Given the description of an element on the screen output the (x, y) to click on. 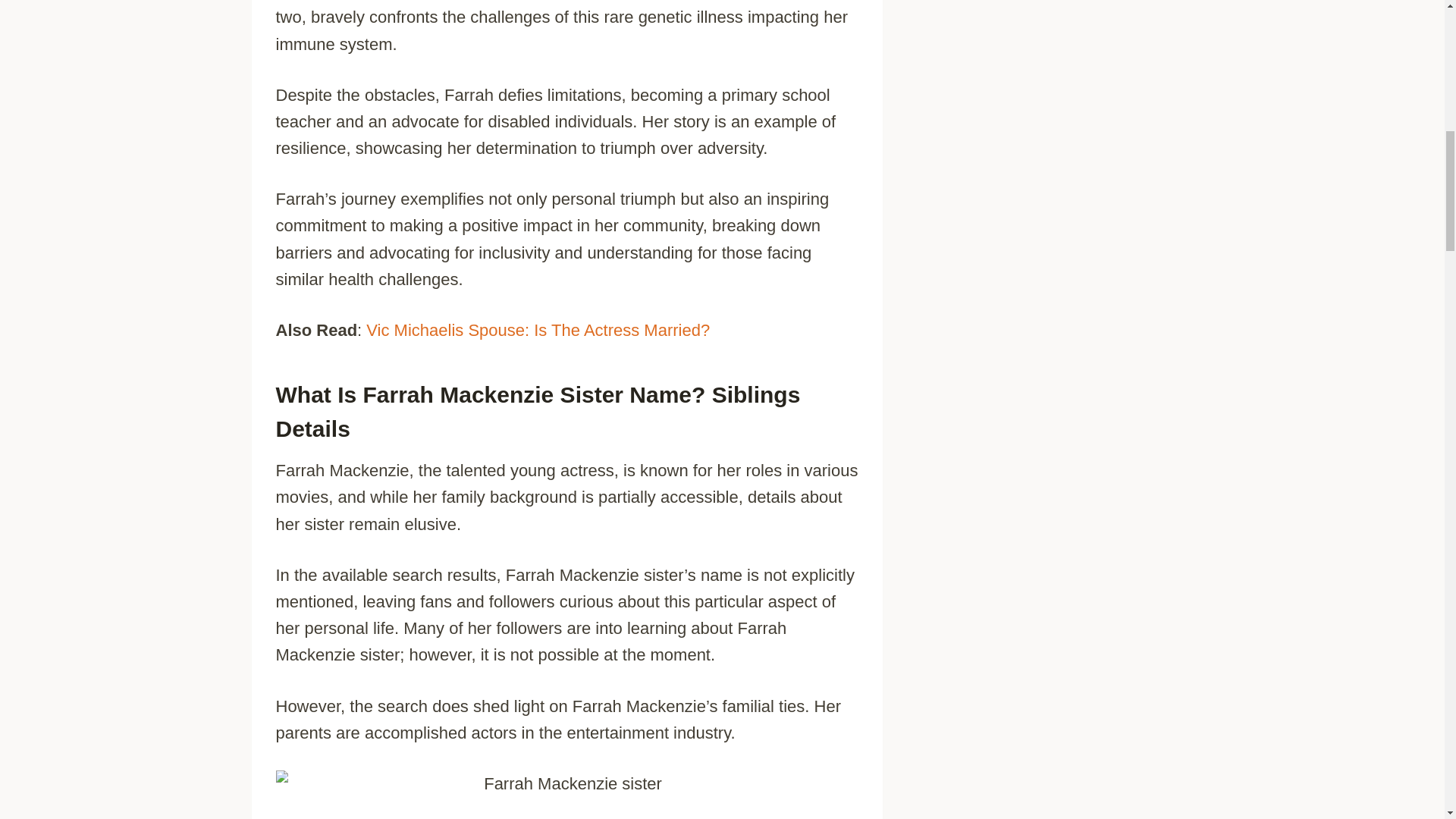
Vic Michaelis Spouse: Is The Actress Married? (538, 330)
